Given the description of an element on the screen output the (x, y) to click on. 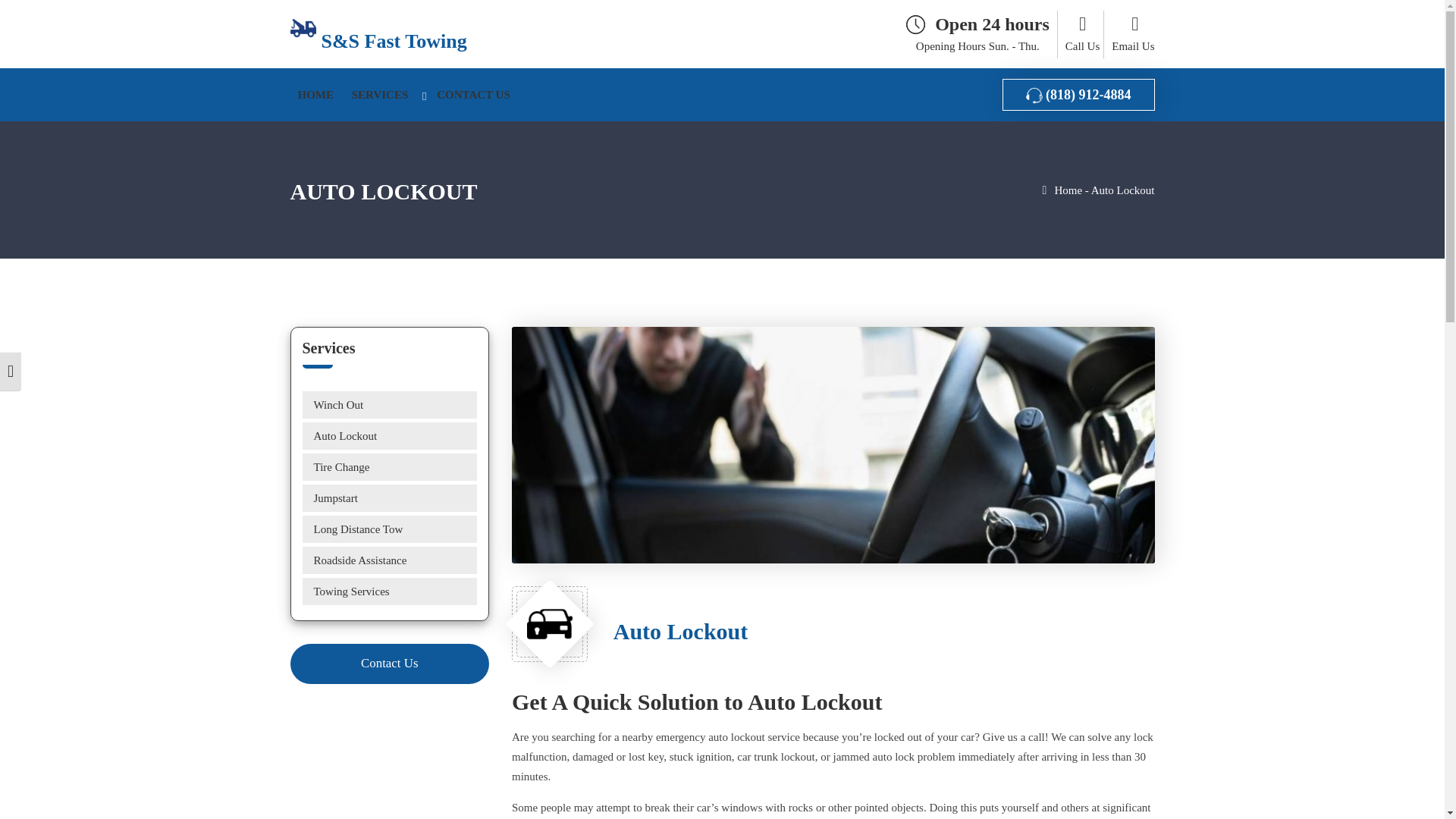
Home (1067, 189)
CONTACT US (473, 94)
